Given the description of an element on the screen output the (x, y) to click on. 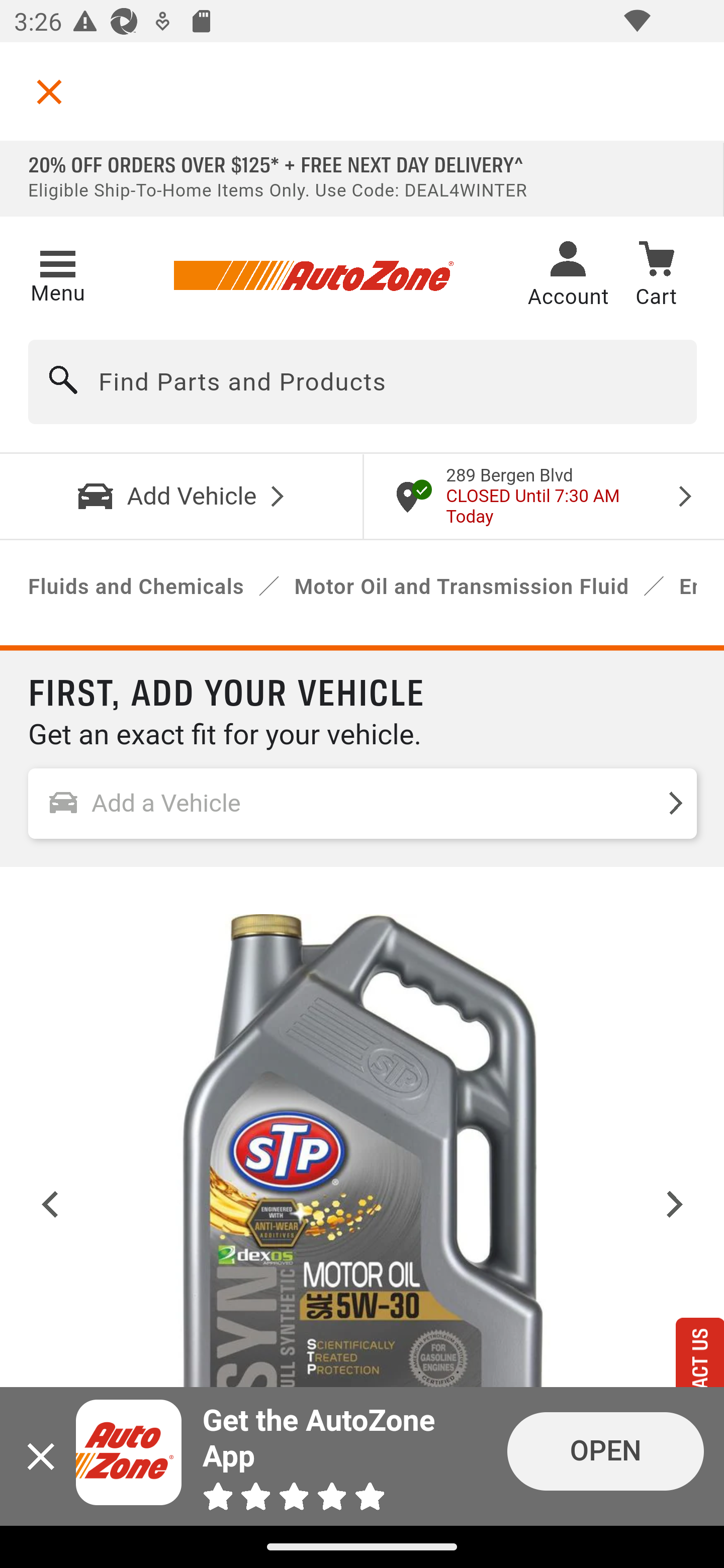
 (49, 91)
Menu (57, 273)
Account (567, 276)
AutoZone Logo (links to homepage) (312, 276)
shopping cart 0 items (655, 277)
Search (63, 382)
Add Vehicle (182, 495)
Fluids and Chemicals (136, 586)
Motor Oil and Transmission Fluid (461, 586)
Add a Vehicle expand (363, 802)
Previous slide (50, 1203)
STP Full Synthetic Engine Oil 5W-30 5 Quart (363, 1203)
Next slide (674, 1203)
Close icon Get the AutoZone App OPEN (362, 1456)
